Given the description of an element on the screen output the (x, y) to click on. 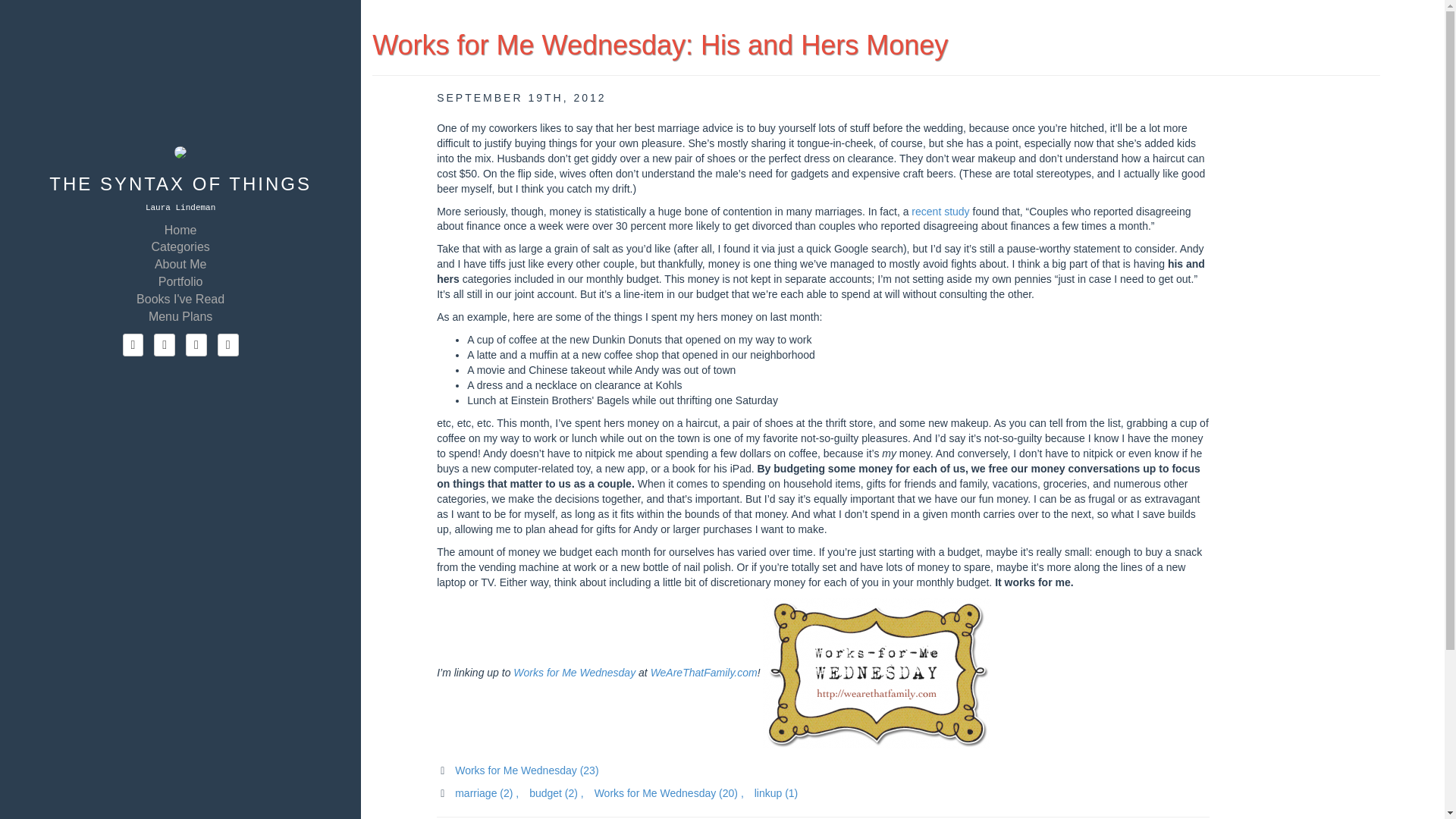
Works for Me Wednesday (573, 672)
Menu Plans (180, 315)
Books I've Read (180, 298)
WeAreThatFamily.com (703, 672)
THE SYNTAX OF THINGS (180, 183)
Categories (180, 246)
Home (180, 229)
About Me (180, 263)
recent study (940, 210)
Portfolio (180, 280)
